Given the description of an element on the screen output the (x, y) to click on. 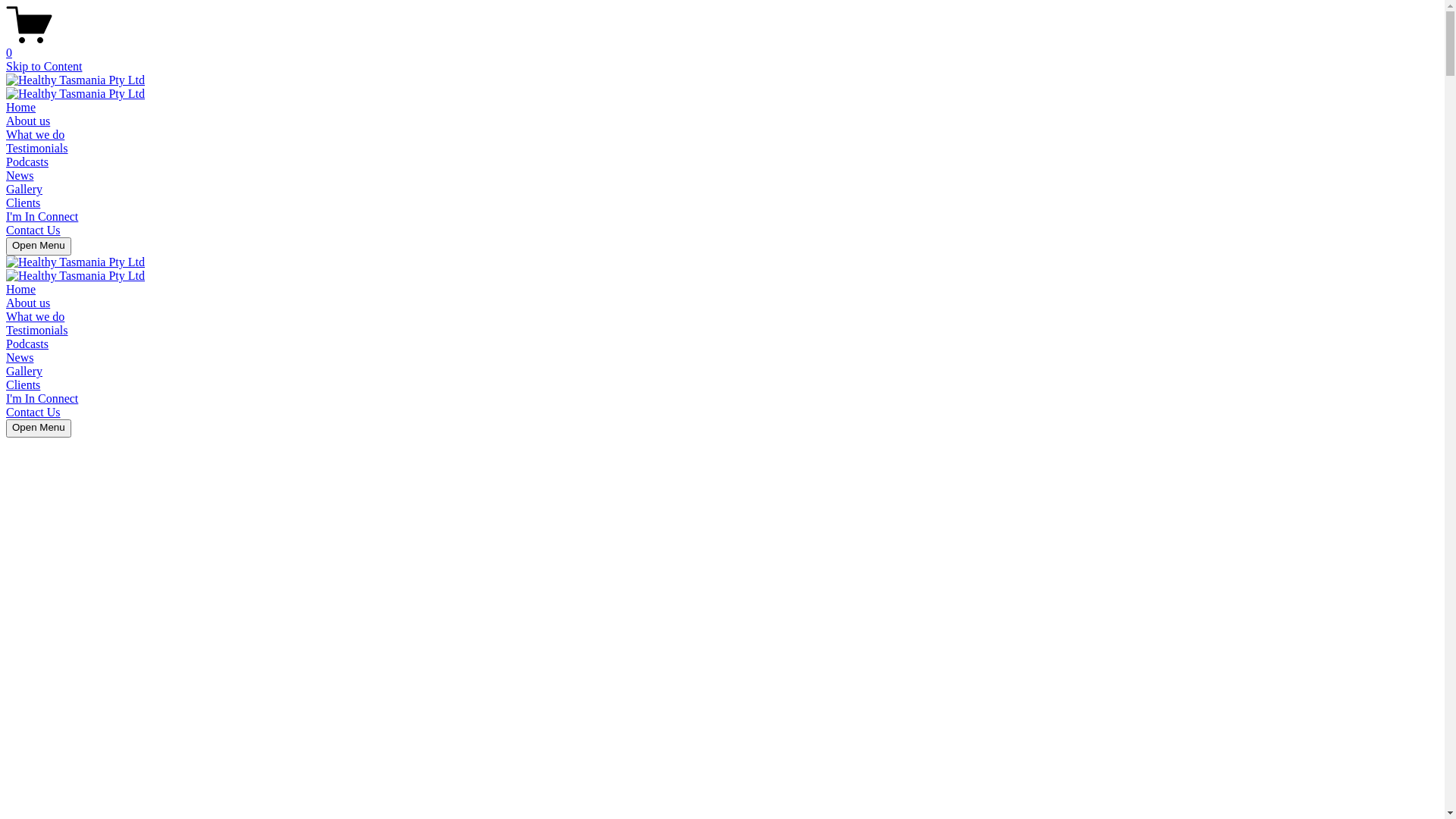
Gallery Element type: text (24, 188)
Home Element type: text (20, 106)
Podcasts Element type: text (27, 161)
About us Element type: text (28, 302)
Contact Us Element type: text (33, 229)
Open Menu Element type: text (38, 428)
Contact Us Element type: text (33, 411)
I'm In Connect Element type: text (42, 216)
News Element type: text (19, 175)
Home Element type: text (20, 288)
0 Element type: text (722, 45)
Clients Element type: text (23, 384)
Open Menu Element type: text (38, 246)
Podcasts Element type: text (27, 343)
What we do Element type: text (35, 134)
Testimonials Element type: text (37, 147)
I'm In Connect Element type: text (42, 398)
Skip to Content Element type: text (43, 65)
What we do Element type: text (35, 316)
Gallery Element type: text (24, 370)
Testimonials Element type: text (37, 329)
About us Element type: text (28, 120)
News Element type: text (19, 357)
Clients Element type: text (23, 202)
